Given the description of an element on the screen output the (x, y) to click on. 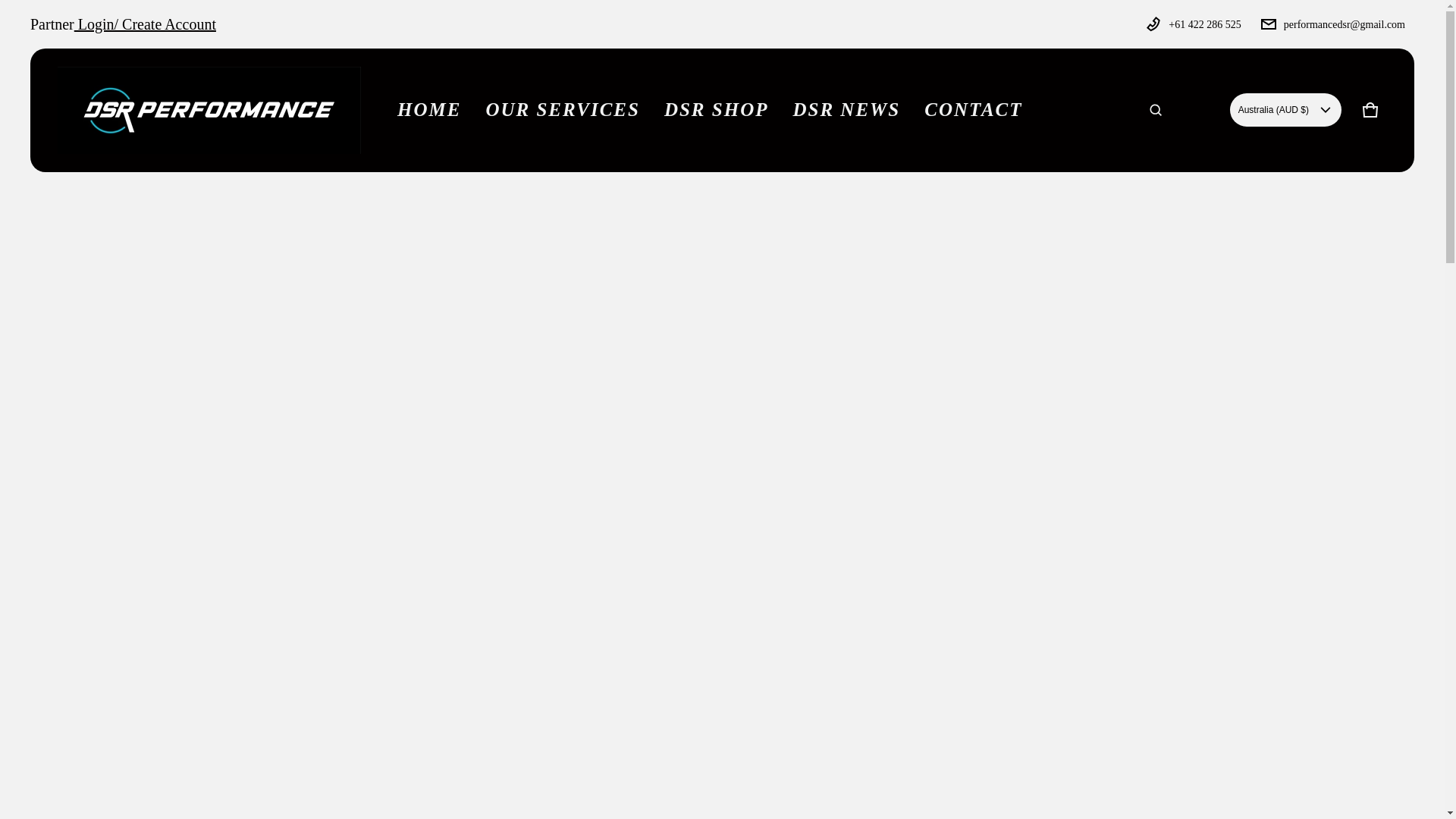
HOME (429, 109)
DSR NEWS (846, 109)
DSR SHOP (1370, 109)
CONTACT (716, 109)
OUR SERVICES (972, 109)
